Given the description of an element on the screen output the (x, y) to click on. 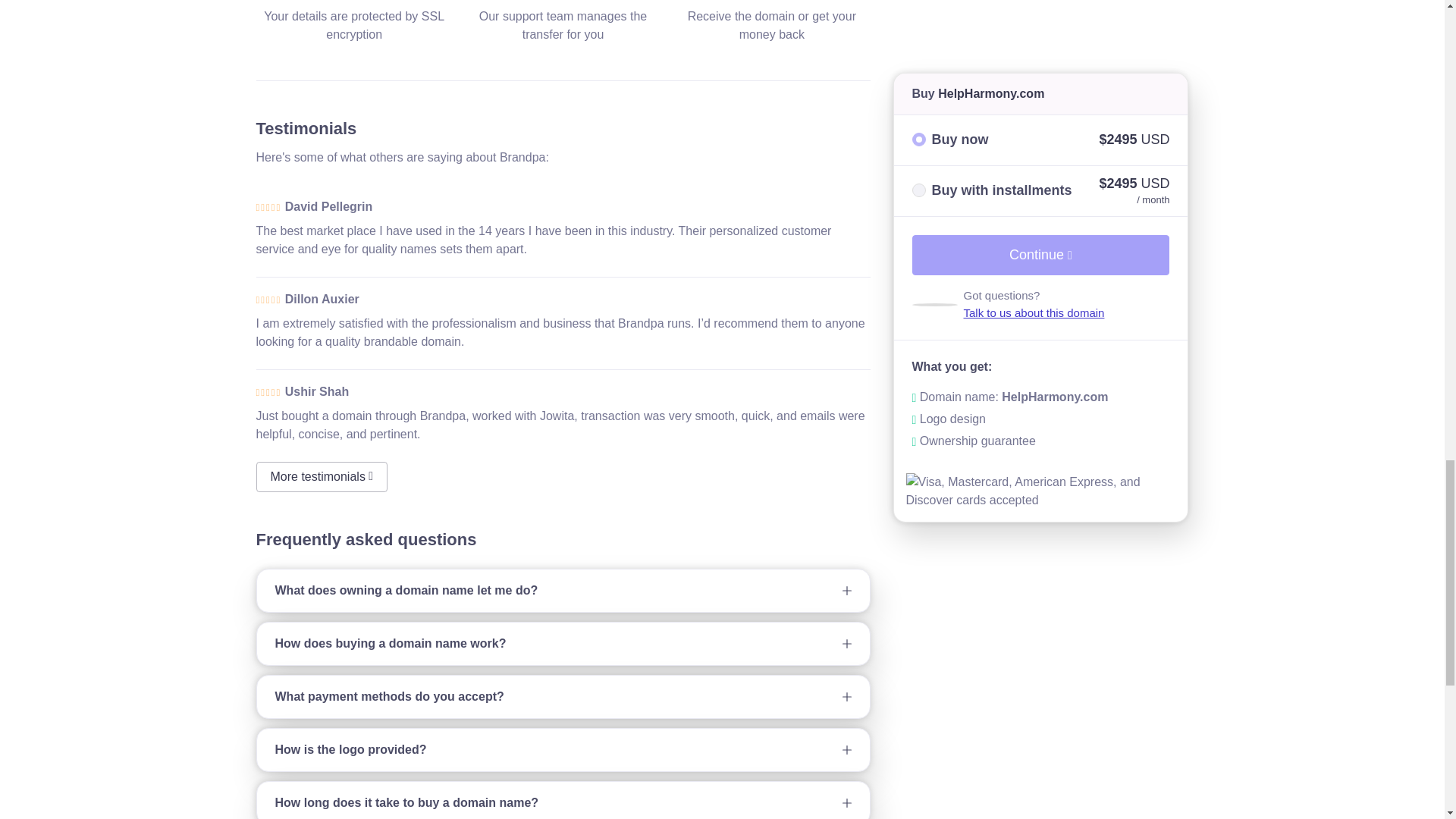
How long does it take to buy a domain name? (562, 800)
What does owning a domain name let me do? (562, 590)
How does buying a domain name work? (562, 643)
What payment methods do you accept? (562, 696)
How is the logo provided? (562, 749)
More testimonials (322, 476)
